Given the description of an element on the screen output the (x, y) to click on. 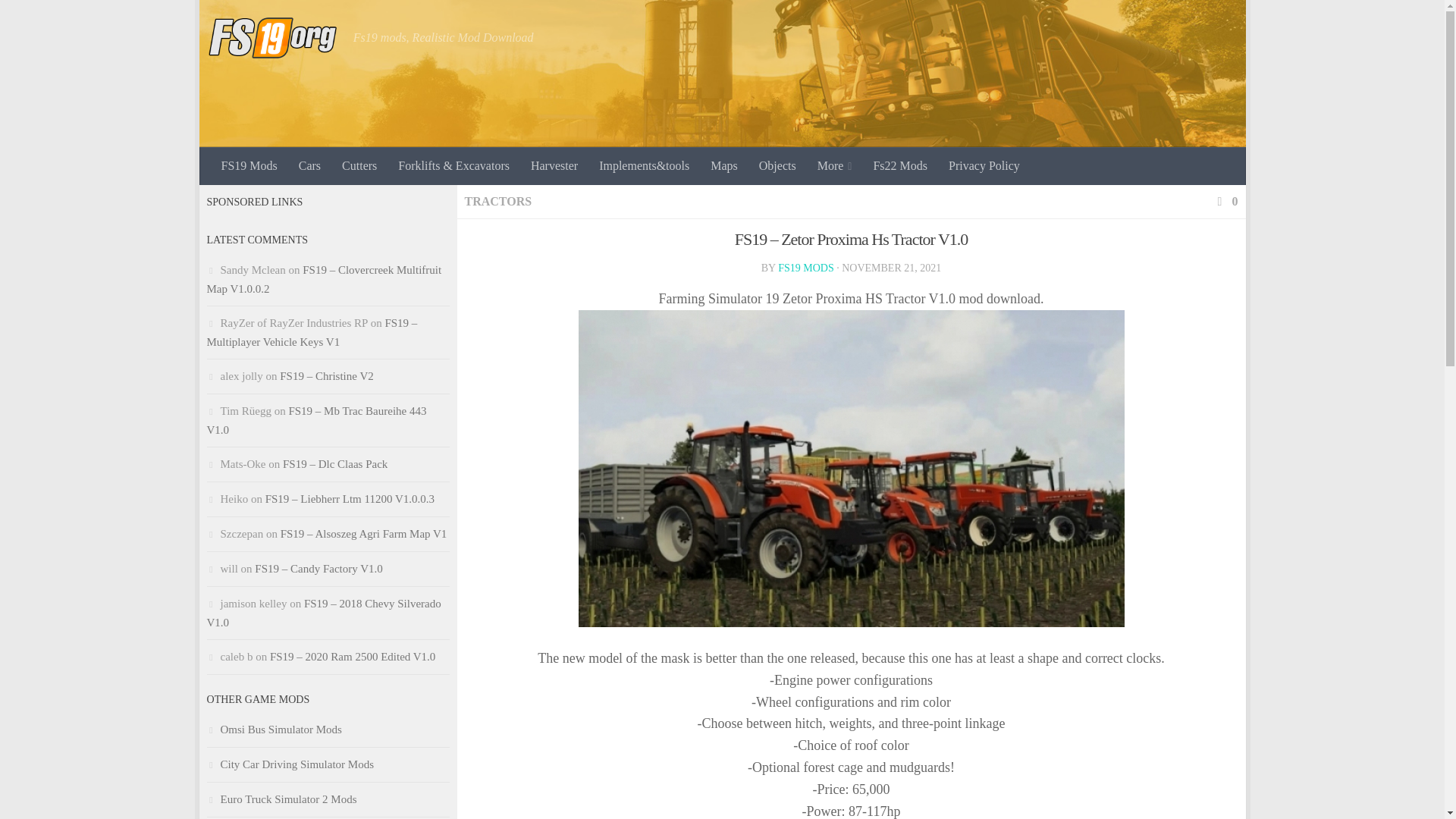
Skip to content (258, 20)
Harvester (553, 166)
Posts by Fs19 mods (805, 267)
Cutters (359, 166)
Cars (309, 166)
FS19 Mods (249, 166)
More (834, 166)
Objects (777, 166)
Maps (724, 166)
